Given the description of an element on the screen output the (x, y) to click on. 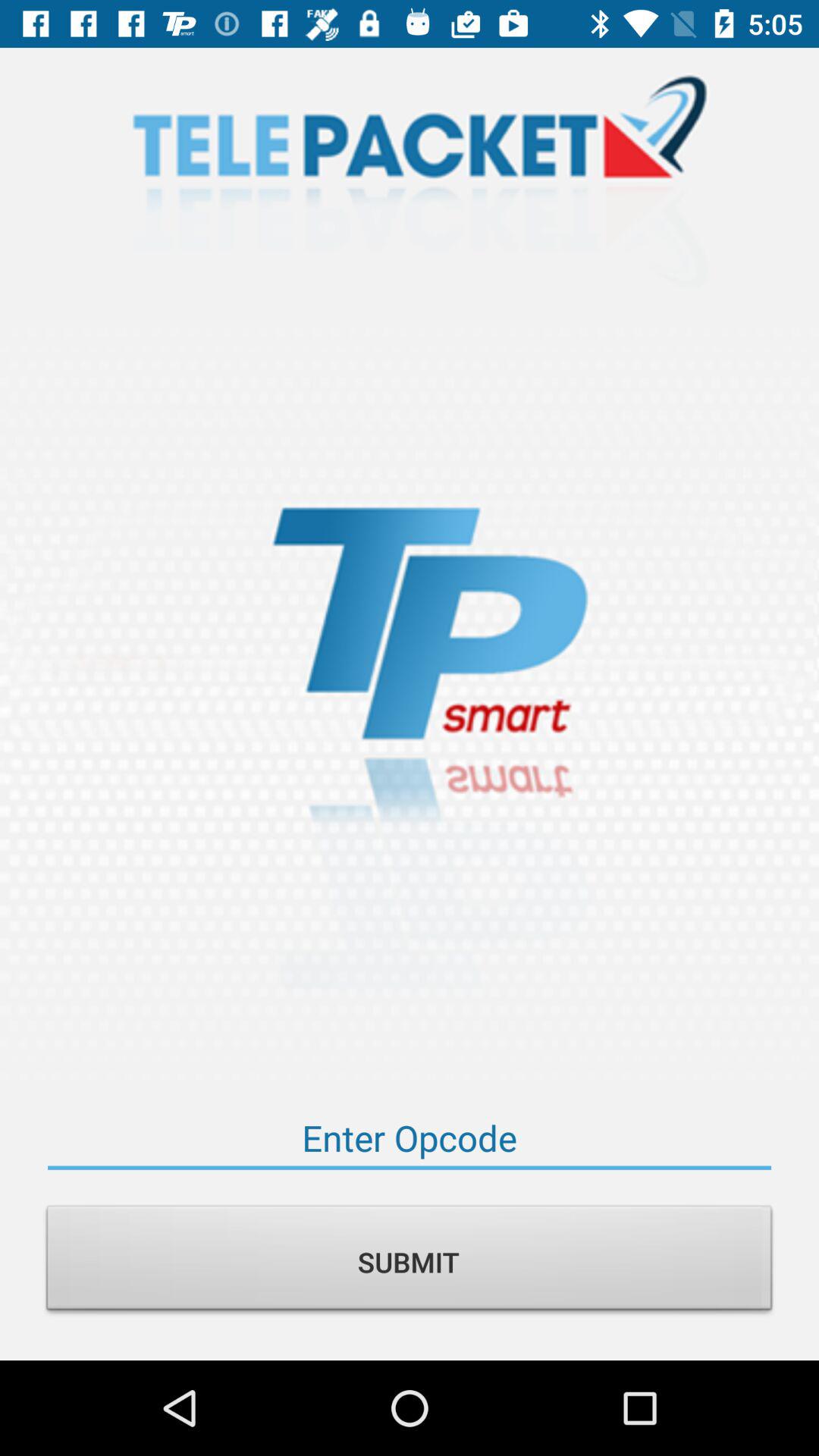
button to enter opcode (409, 1138)
